Given the description of an element on the screen output the (x, y) to click on. 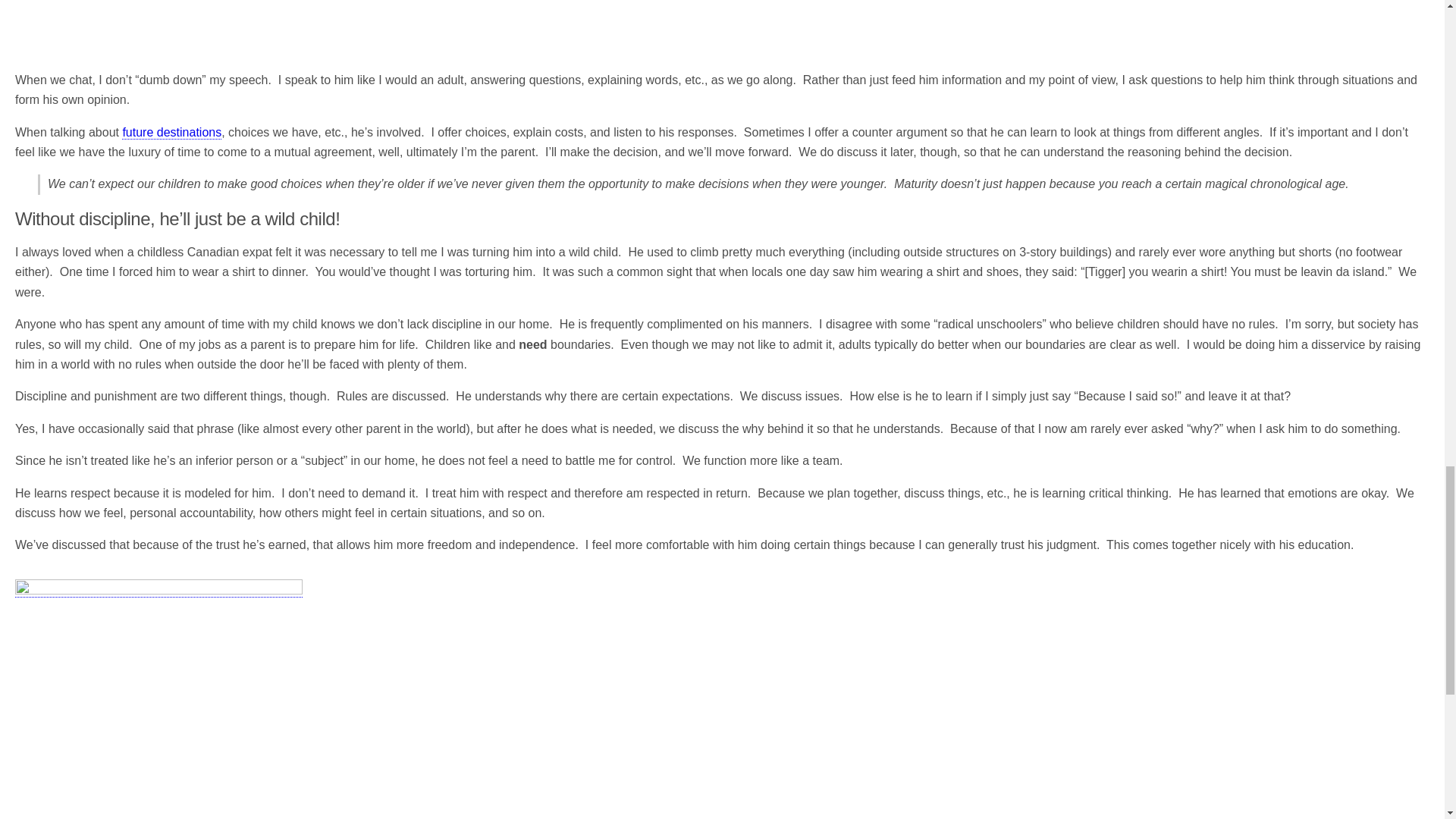
Tigger being a shutterbug (204, 23)
future destinations (171, 132)
Ready for parasailing in Peru (158, 699)
Our next destination has finally been picked! (171, 132)
